Given the description of an element on the screen output the (x, y) to click on. 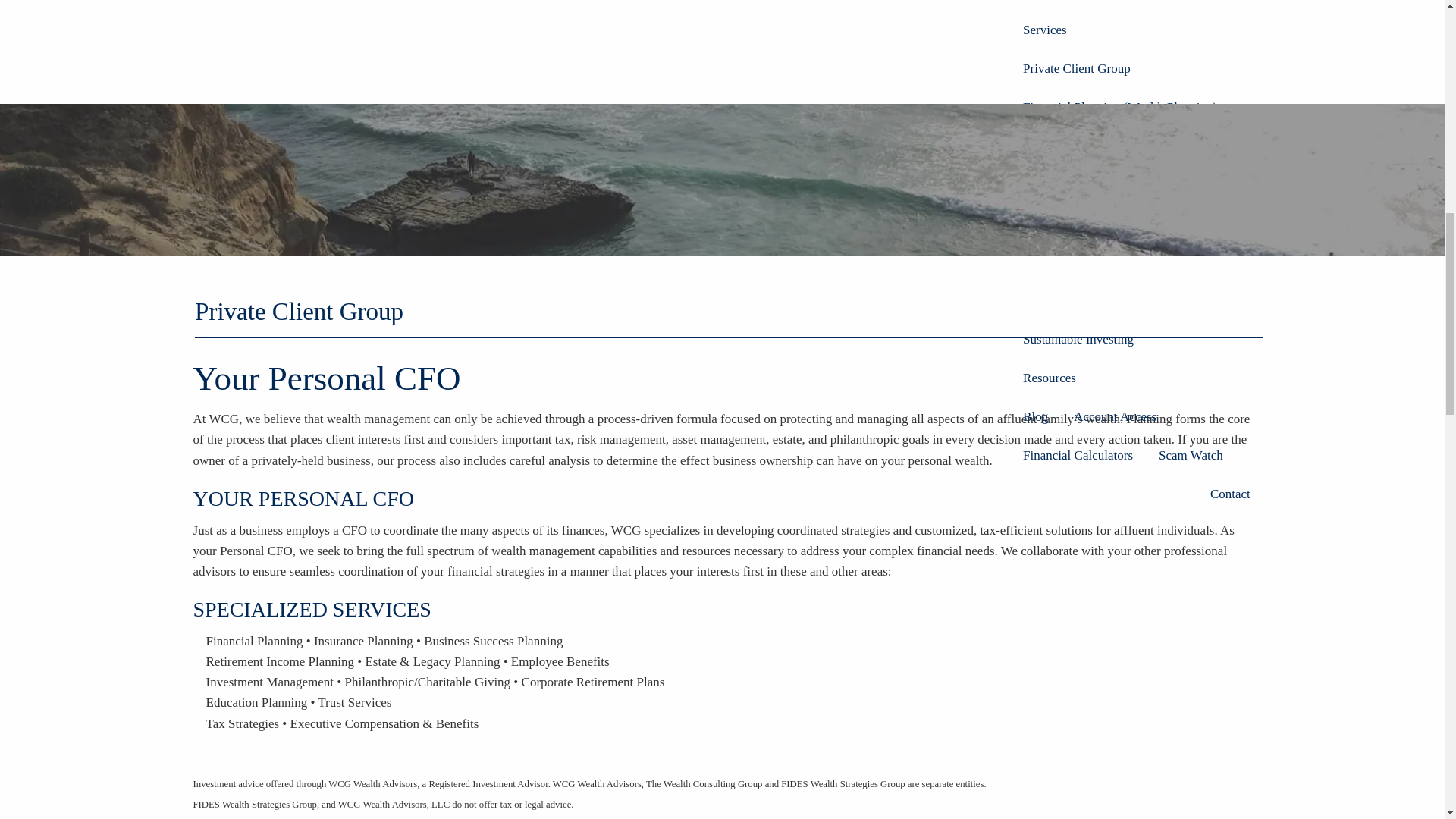
Blog (1035, 416)
Resources (1136, 377)
Services (1136, 29)
Investment Management (1086, 145)
Contact (1229, 494)
Financial Calculators (1077, 455)
Executive Benefits (1072, 261)
Account Access (1115, 416)
Employee Benefits (1195, 261)
Sustainable Investing (1078, 339)
Scam Watch (1190, 455)
FIDES Wealth Strategies Group in the News (1136, 5)
Private Client Group (1136, 68)
Corporate Retirement Plans (1094, 300)
Corporate Services (1136, 222)
